Given the description of an element on the screen output the (x, y) to click on. 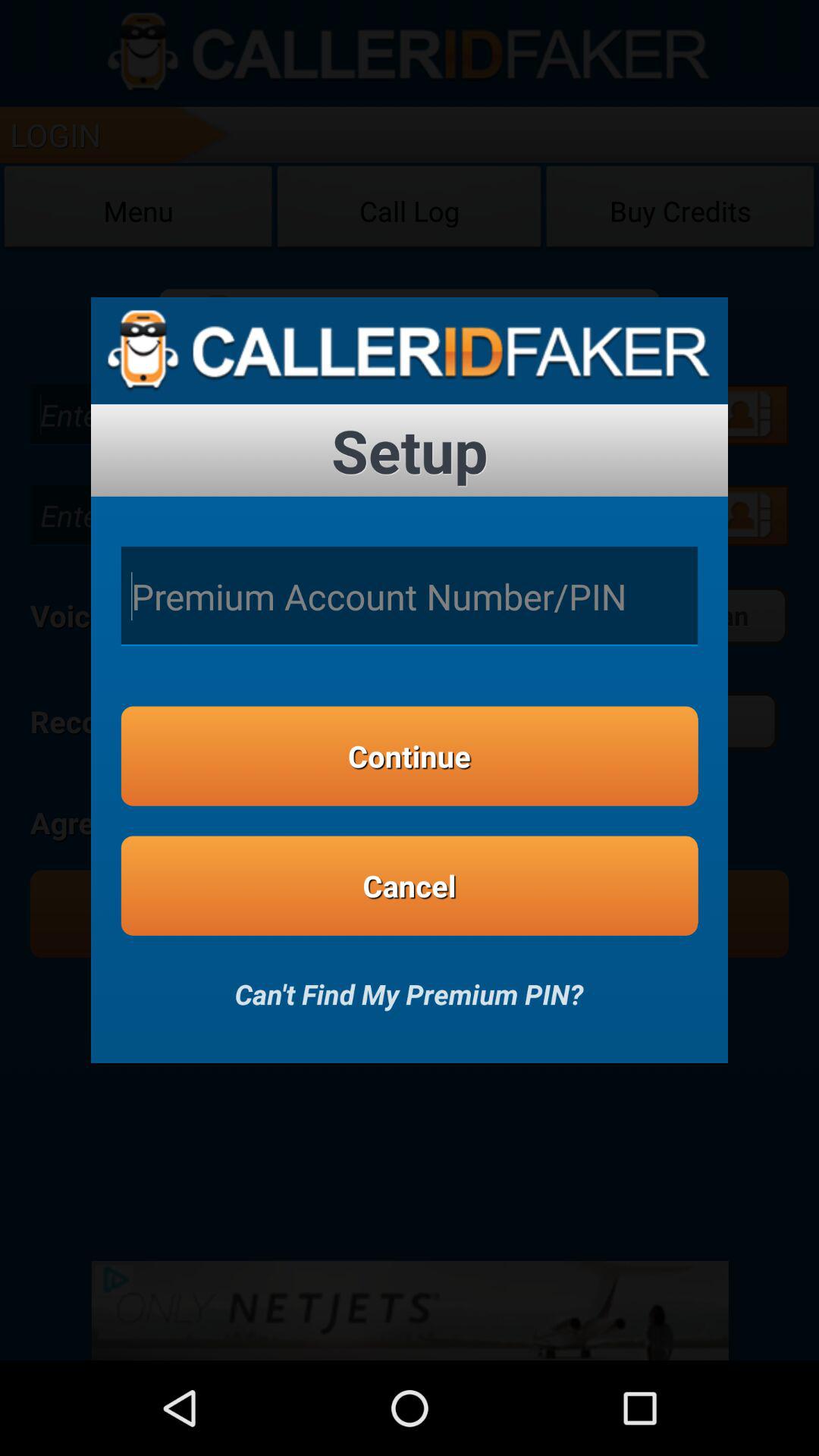
turn off the can t find item (408, 983)
